Given the description of an element on the screen output the (x, y) to click on. 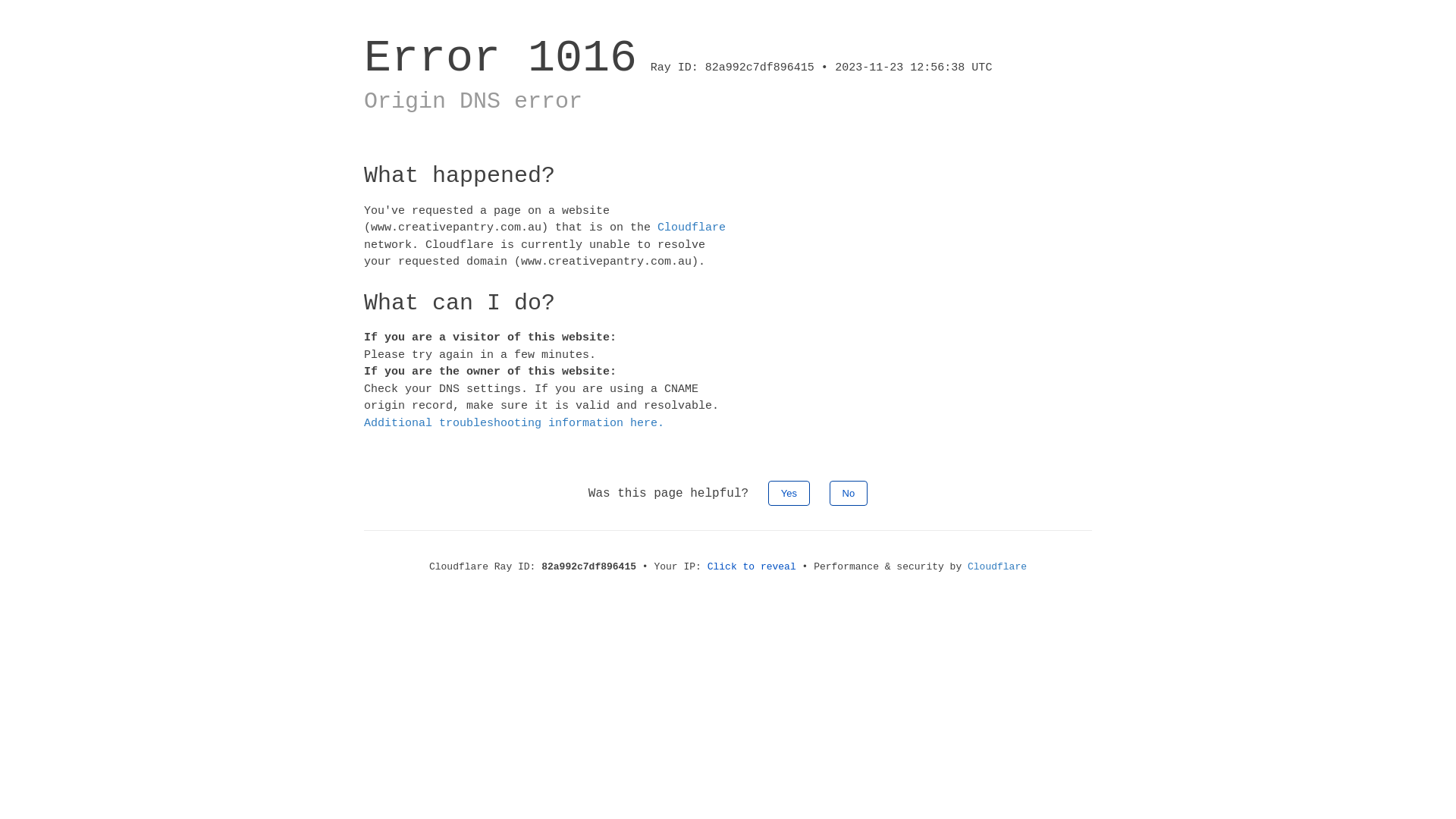
Cloudflare Element type: text (996, 566)
No Element type: text (848, 492)
Yes Element type: text (788, 492)
Click to reveal Element type: text (751, 566)
Additional troubleshooting information here. Element type: text (514, 423)
Cloudflare Element type: text (691, 227)
